Given the description of an element on the screen output the (x, y) to click on. 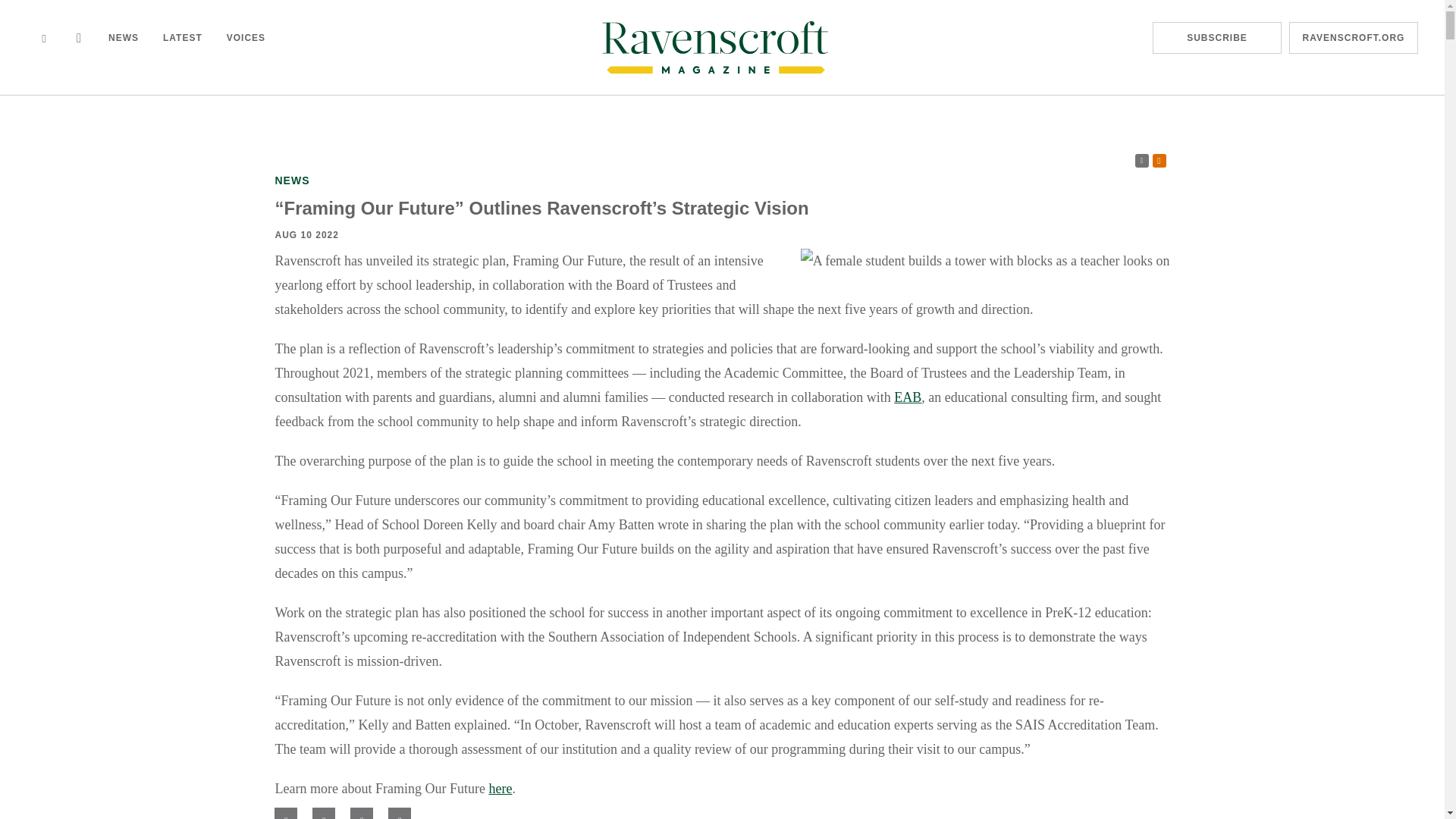
Print this page (399, 813)
Alerts (1159, 160)
RSS (1141, 160)
Share to Email (361, 813)
Share to Twitter (323, 813)
Share to Facebook (286, 813)
